Given the description of an element on the screen output the (x, y) to click on. 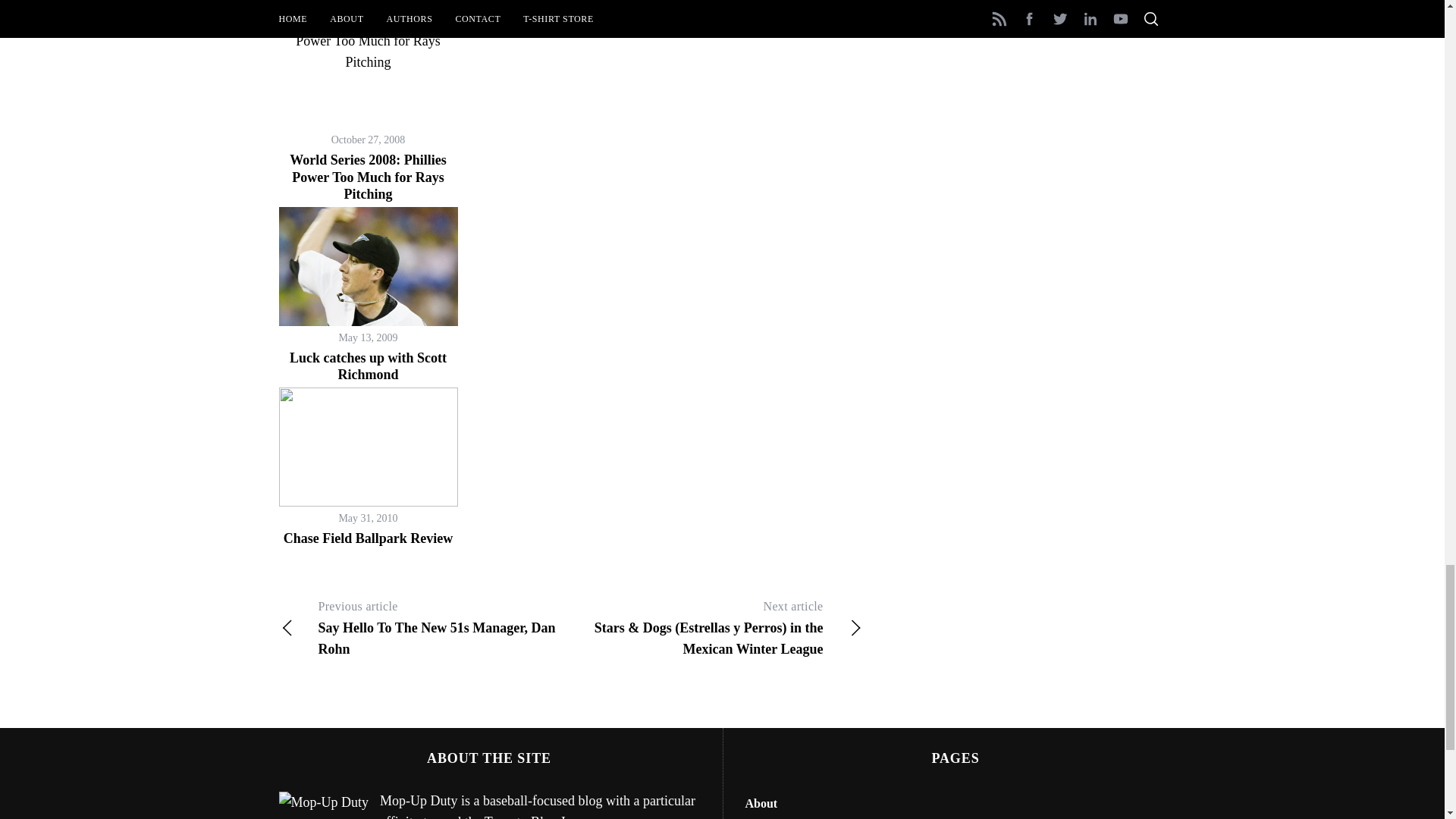
Luck catches up with Scott Richmond (367, 366)
World Series 2008: Phillies Power Too Much for Rays Pitching (367, 176)
Chase Field Ballpark Review (367, 538)
